Given the description of an element on the screen output the (x, y) to click on. 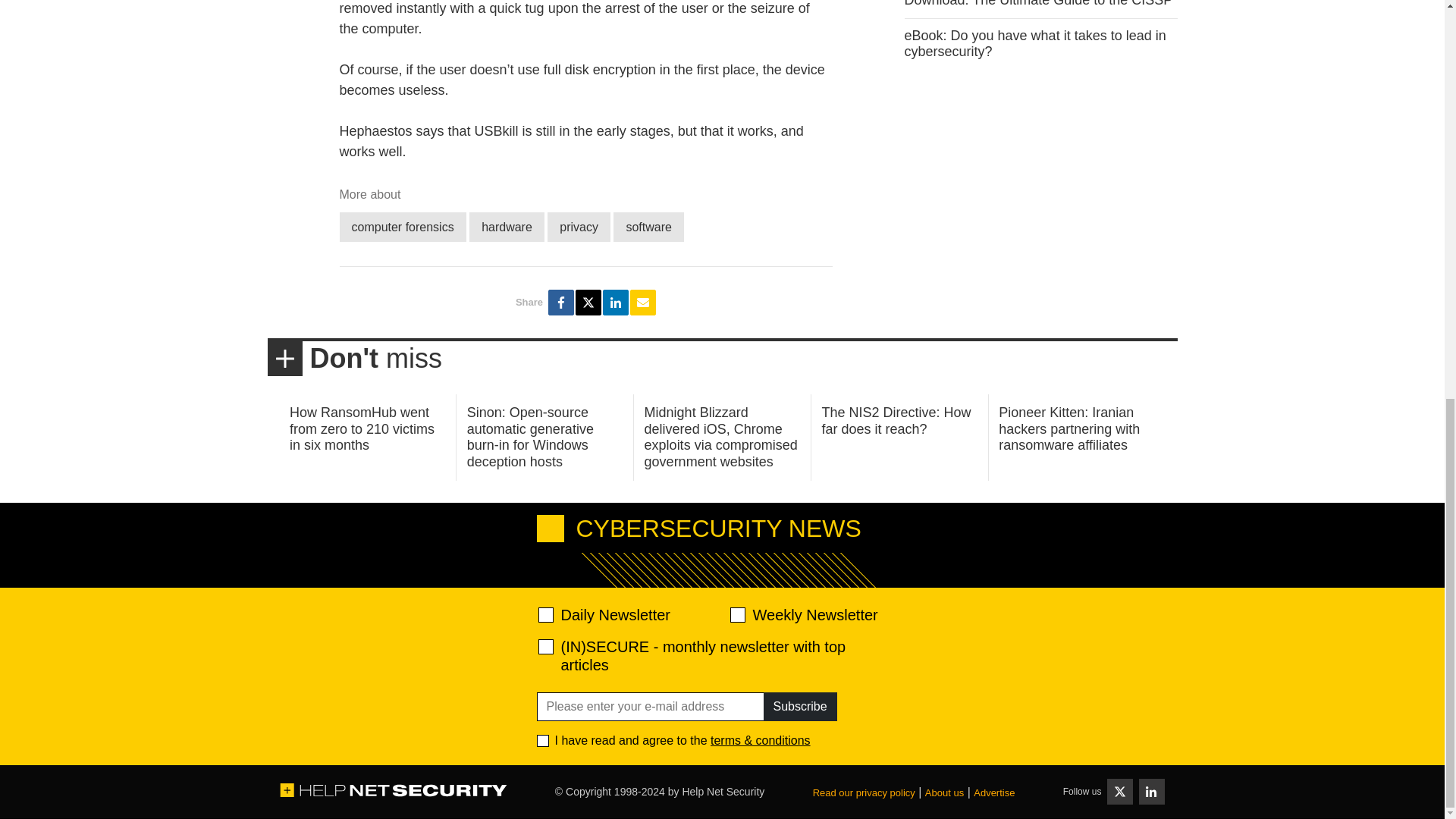
1 (542, 740)
hardware (506, 226)
hardware (506, 226)
software (647, 226)
privacy (578, 226)
d2d471aafa (736, 614)
Download: The Ultimate Guide to the CISSP (1038, 3)
28abe5d9ef (545, 646)
software (647, 226)
